Given the description of an element on the screen output the (x, y) to click on. 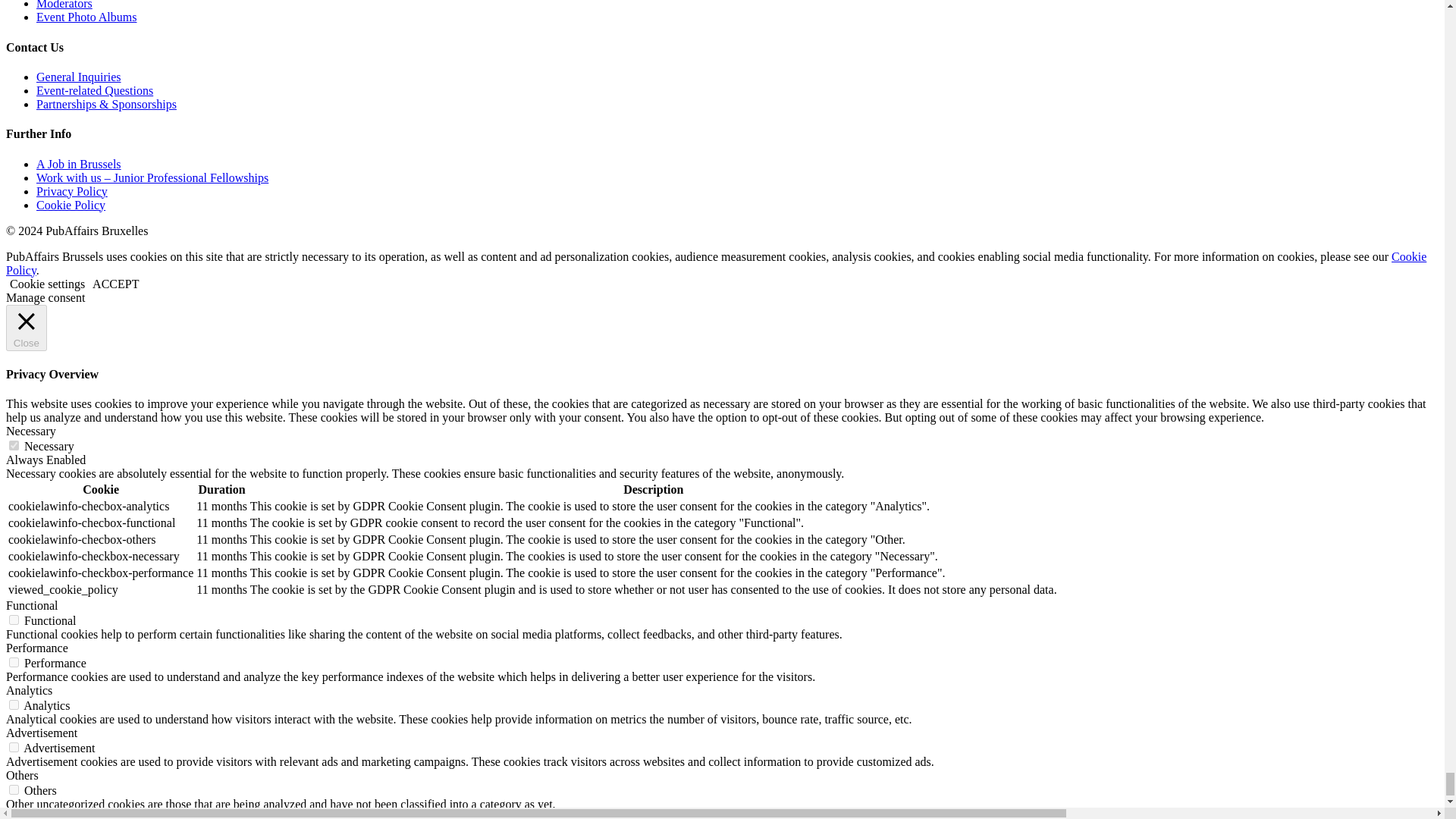
on (13, 705)
on (13, 619)
on (13, 789)
on (13, 747)
on (13, 662)
on (13, 445)
